Given the description of an element on the screen output the (x, y) to click on. 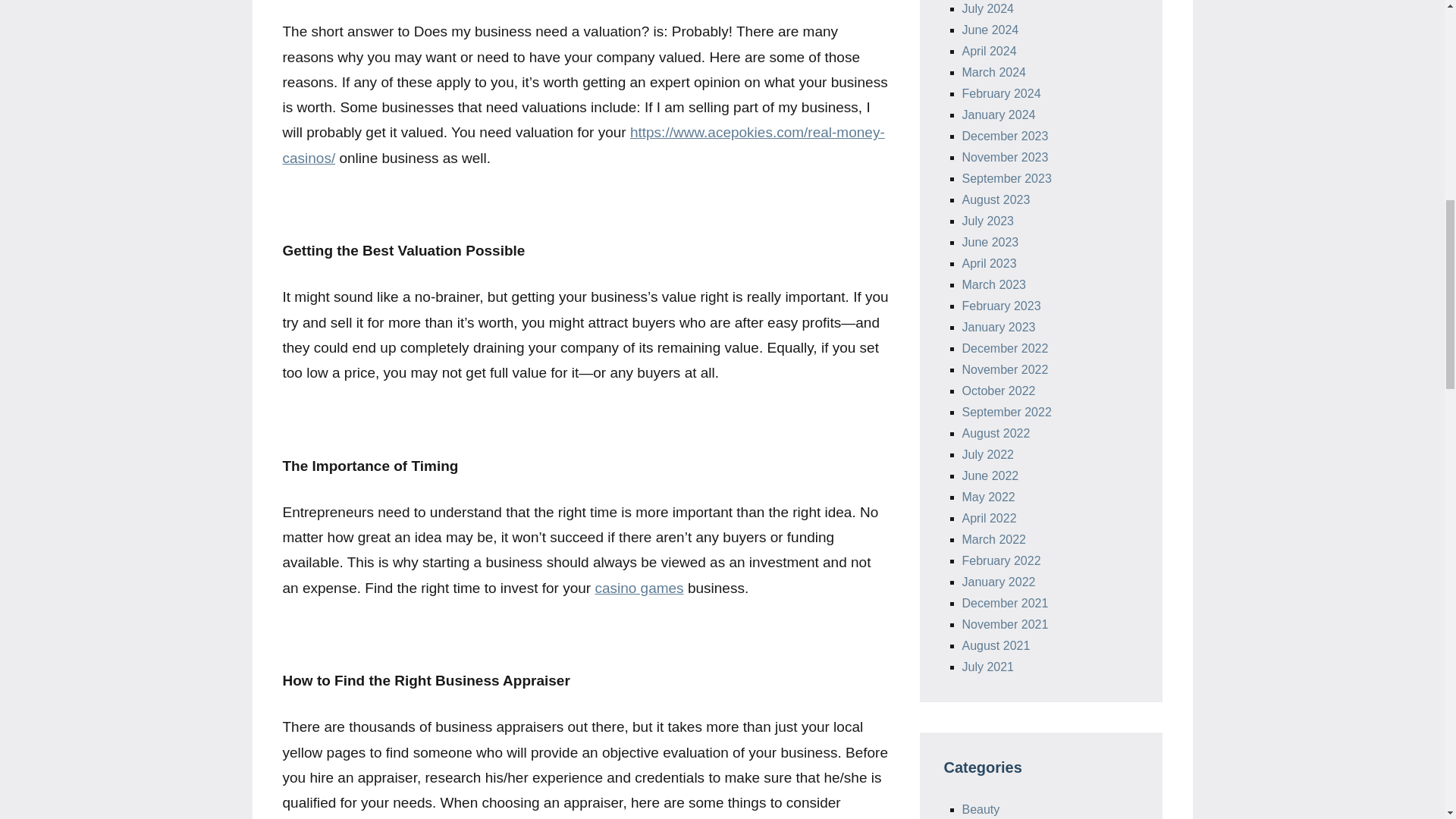
February 2023 (1000, 305)
April 2023 (988, 263)
July 2023 (986, 220)
June 2023 (988, 241)
February 2024 (1000, 92)
September 2023 (1005, 178)
August 2023 (994, 199)
casino games (638, 587)
December 2023 (1004, 135)
July 2024 (986, 8)
January 2023 (997, 327)
November 2023 (1004, 156)
March 2023 (993, 284)
December 2022 (1004, 348)
March 2024 (993, 72)
